Given the description of an element on the screen output the (x, y) to click on. 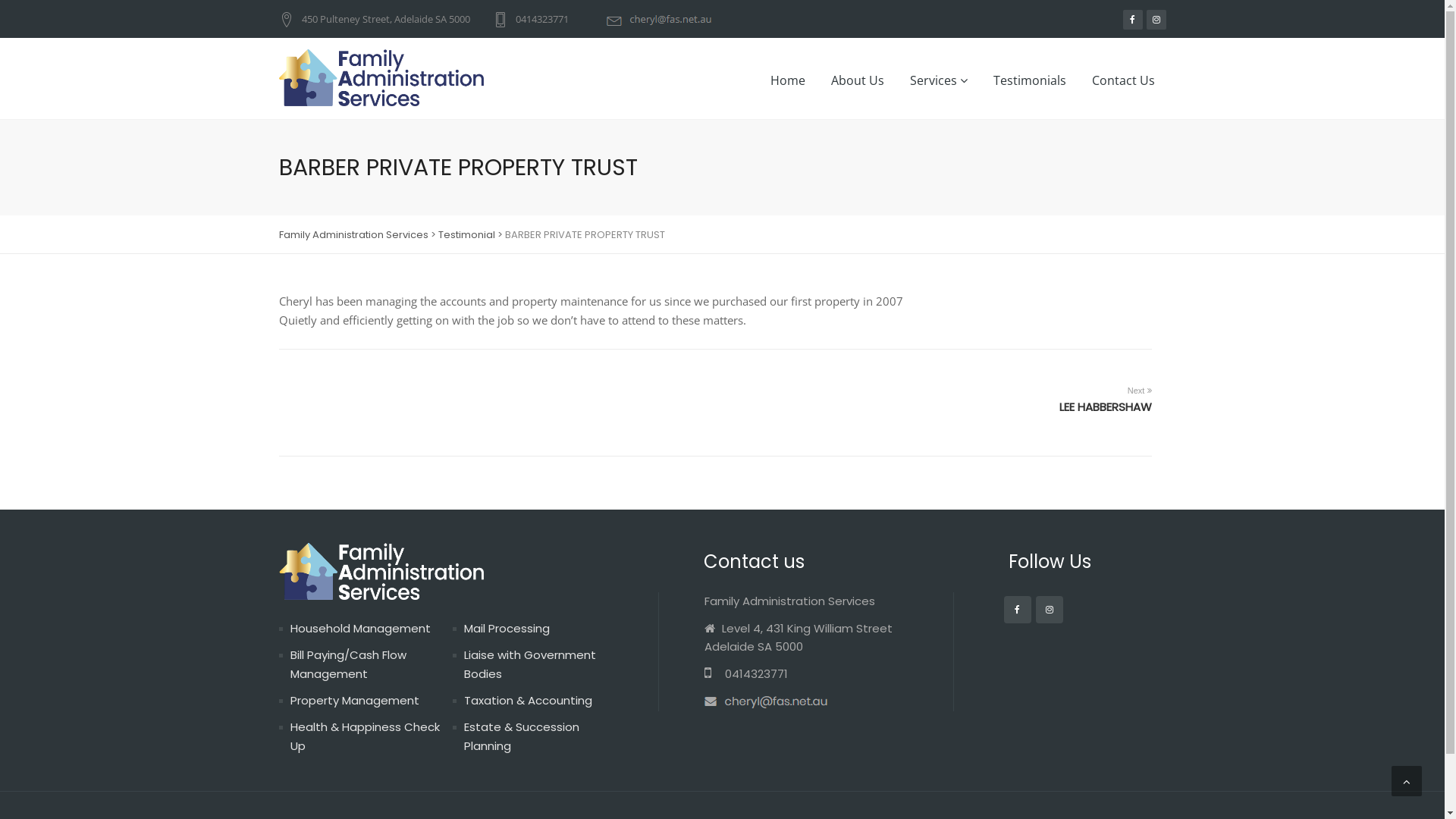
Estate & Succession Planning Element type: text (521, 735)
Family Administration Services Element type: text (353, 234)
Property Management Element type: text (353, 700)
Contact Us Element type: text (1122, 80)
Testimonials Element type: text (1028, 80)
About Us Element type: text (856, 80)
Mail Processing Element type: text (506, 628)
Testimonial Element type: text (466, 234)
Bill Paying/Cash Flow Management Element type: text (347, 663)
Liaise with Government Bodies Element type: text (530, 663)
Services Element type: text (937, 80)
Next
LEE HABBERSHAW Element type: text (1104, 397)
0414323771 Element type: text (537, 18)
Home Element type: text (786, 80)
   0414323771 Element type: text (745, 673)
Health & Happiness Check Up Element type: text (364, 735)
Household Management Element type: text (359, 628)
Taxation & Accounting Element type: text (528, 700)
